Given the description of an element on the screen output the (x, y) to click on. 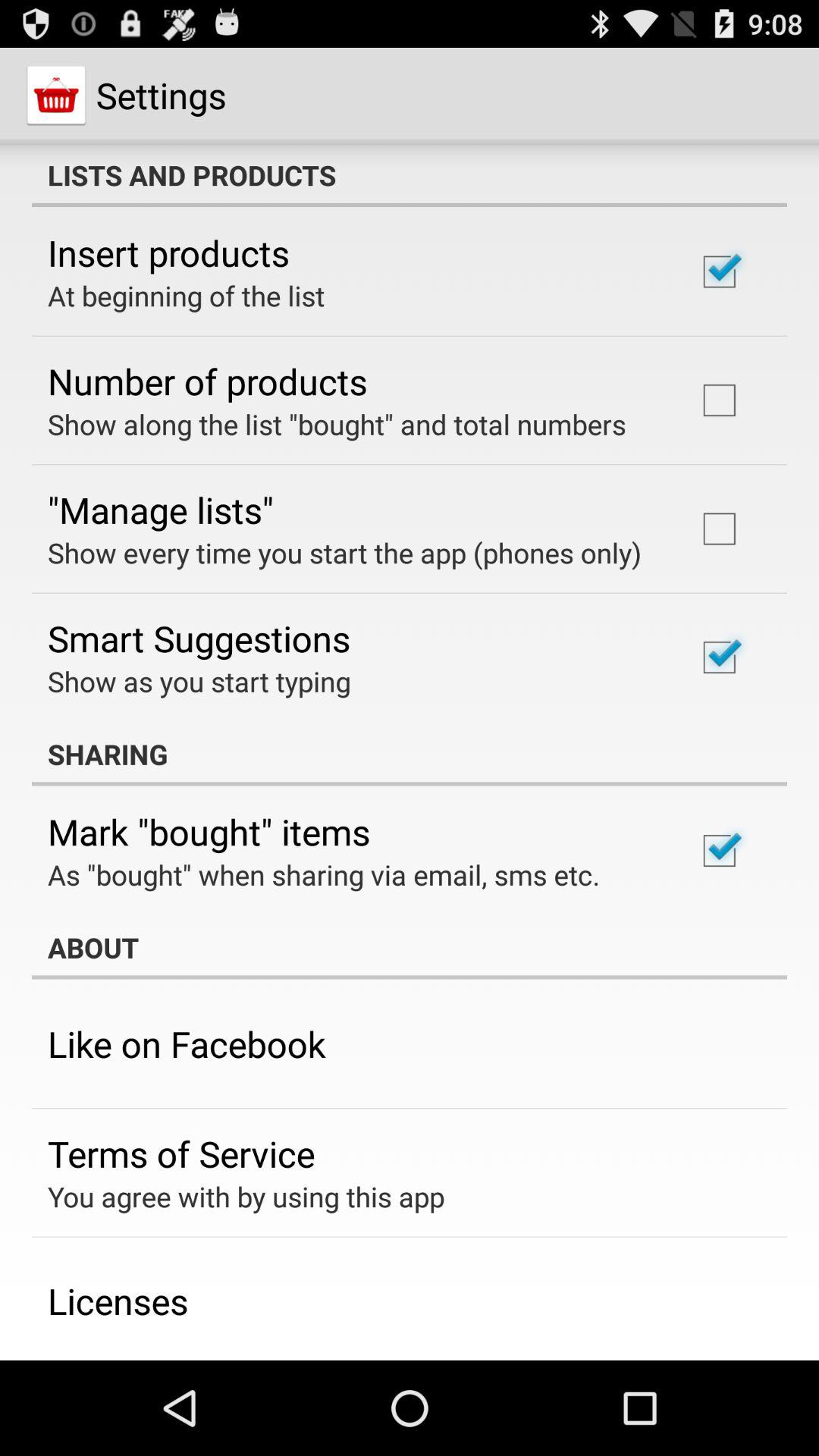
press app below the mark "bought" items app (323, 874)
